Given the description of an element on the screen output the (x, y) to click on. 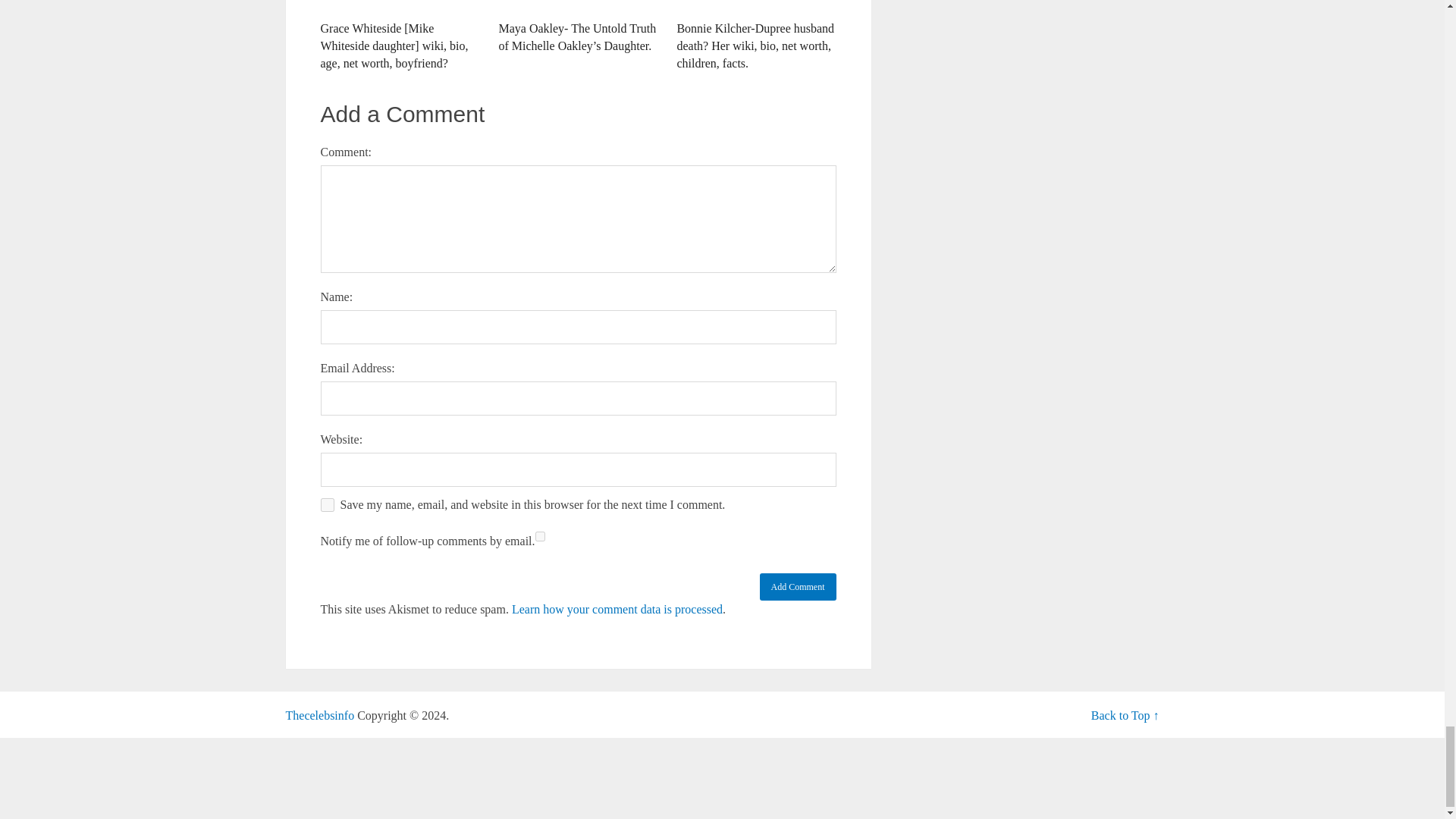
Thecelebsinfo (319, 715)
Add Comment (797, 586)
Add Comment (797, 586)
yes (326, 504)
subscribe (539, 536)
Learn how your comment data is processed (617, 608)
